Given the description of an element on the screen output the (x, y) to click on. 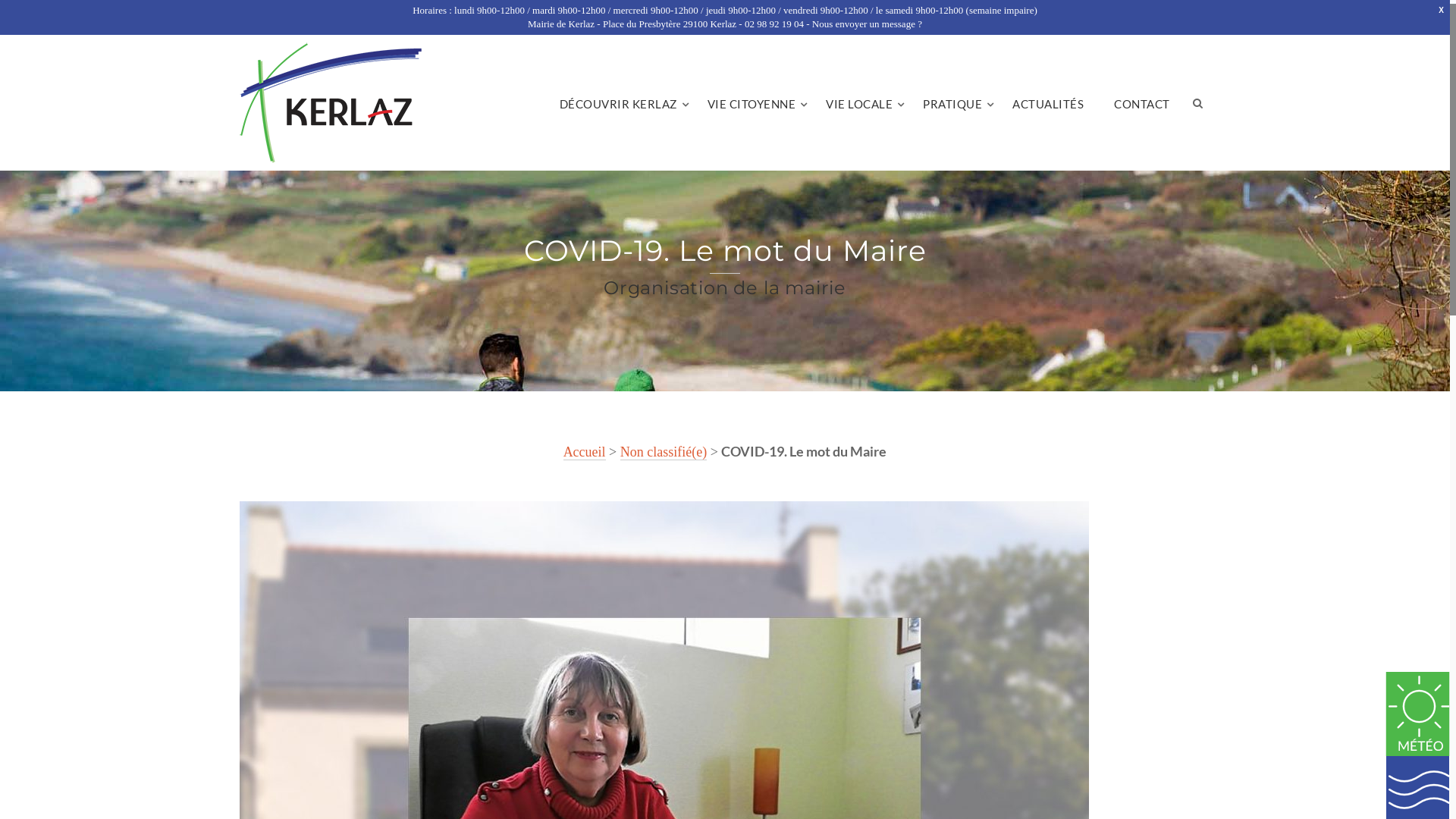
Nous envoyer un message ? Element type: text (867, 23)
PRATIQUE Element type: text (952, 102)
02 98 92 19 04 Element type: text (773, 23)
Accueil Element type: text (584, 452)
VIE CITOYENNE Element type: text (751, 102)
VIE LOCALE Element type: text (858, 102)
CONTACT Element type: text (1141, 102)
Ville de Kerlaz Element type: hover (330, 102)
